Given the description of an element on the screen output the (x, y) to click on. 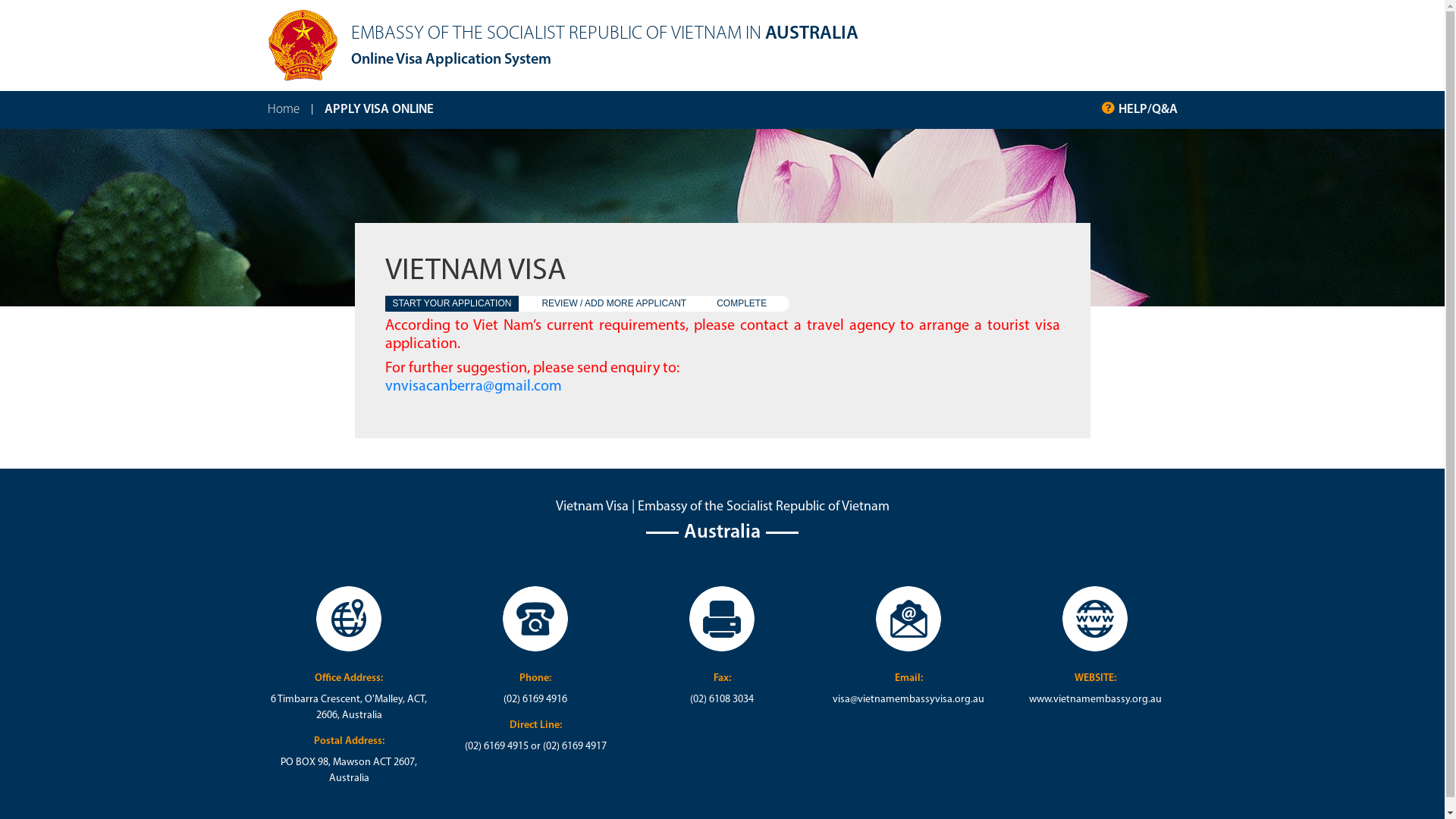
(02) 6169 4916 Element type: text (535, 699)
(02) 6169 4917 Element type: text (574, 746)
REVIEW / ADD MORE APPLICANT Element type: text (613, 303)
START YOUR APPLICATION Element type: text (452, 303)
COMPLETE Element type: text (741, 303)
(02) 6169 4915 Element type: text (496, 746)
vnvisacanberra@gmail.com Element type: text (473, 386)
www.vietnamembassy.org.au Element type: text (1095, 699)
visa@vietnamembassyvisa.org.au Element type: text (908, 699)
Home Element type: text (282, 109)
HELP/Q&A Element type: text (1146, 109)
APPLY VISA ONLINE Element type: text (378, 109)
